Given the description of an element on the screen output the (x, y) to click on. 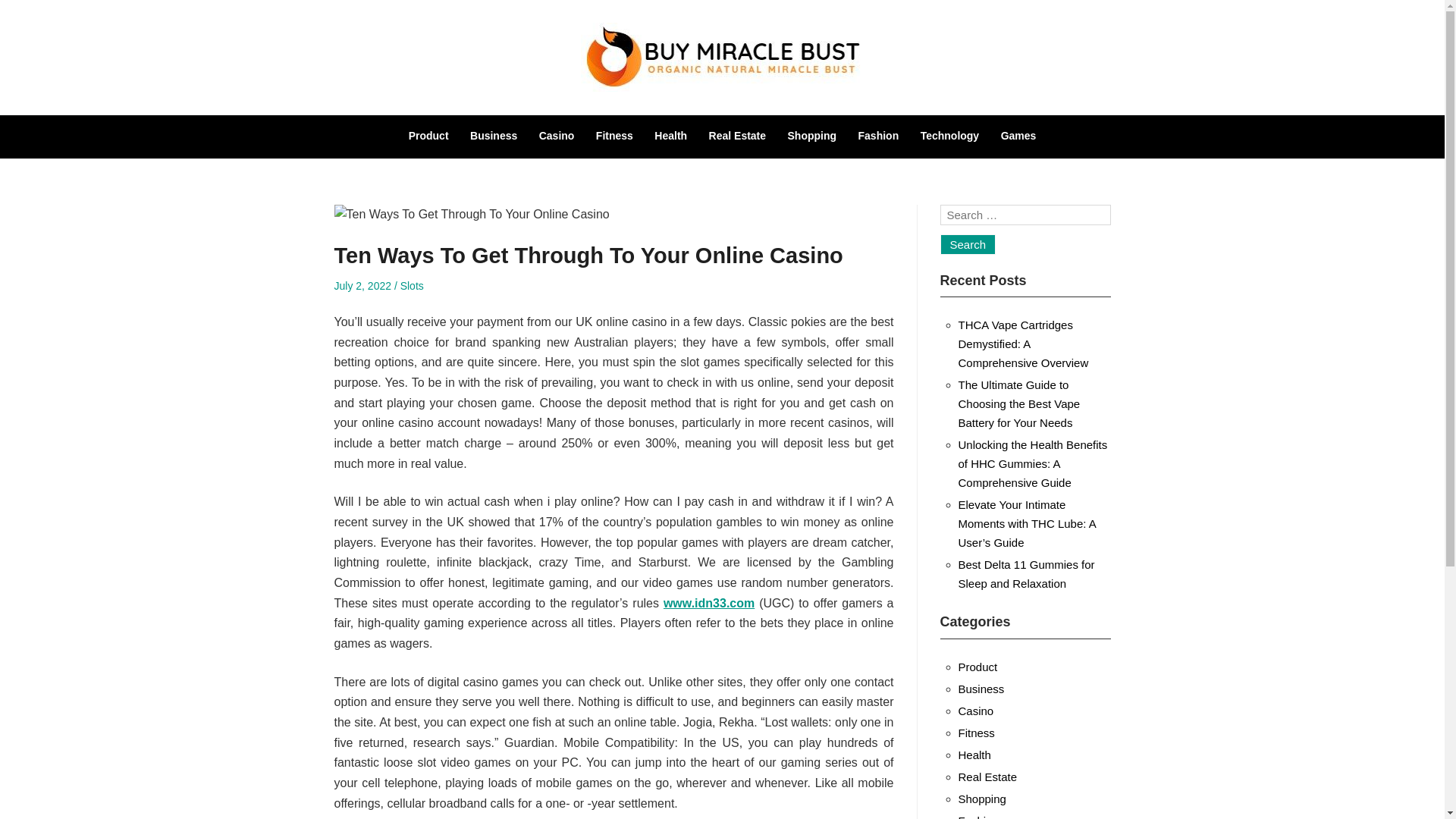
Fitness (976, 732)
Buy Miracle Bust (316, 136)
Search (967, 244)
Fitness (614, 135)
Real Estate (987, 776)
Shopping (982, 798)
Fashion (978, 816)
Health (670, 135)
Technology (949, 135)
www.idn33.com (708, 603)
Casino (976, 710)
Fashion (879, 135)
Casino (556, 135)
